Given the description of an element on the screen output the (x, y) to click on. 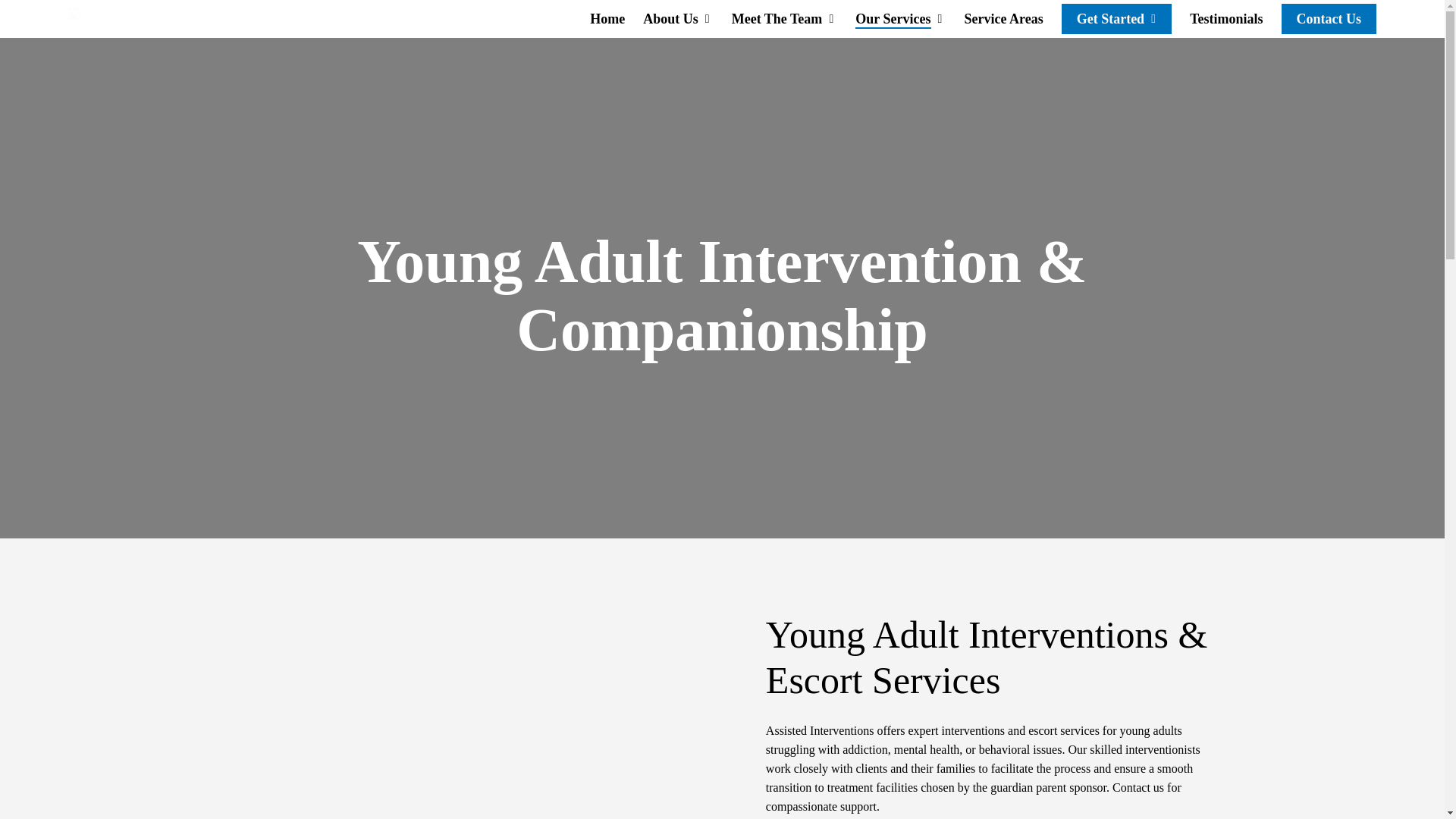
Testimonials (1225, 18)
Contact Us (1329, 18)
Service Areas (1003, 18)
Home (606, 18)
Meet The Team (785, 18)
Our Services (900, 18)
About Us (678, 18)
Get Started (1116, 18)
